Given the description of an element on the screen output the (x, y) to click on. 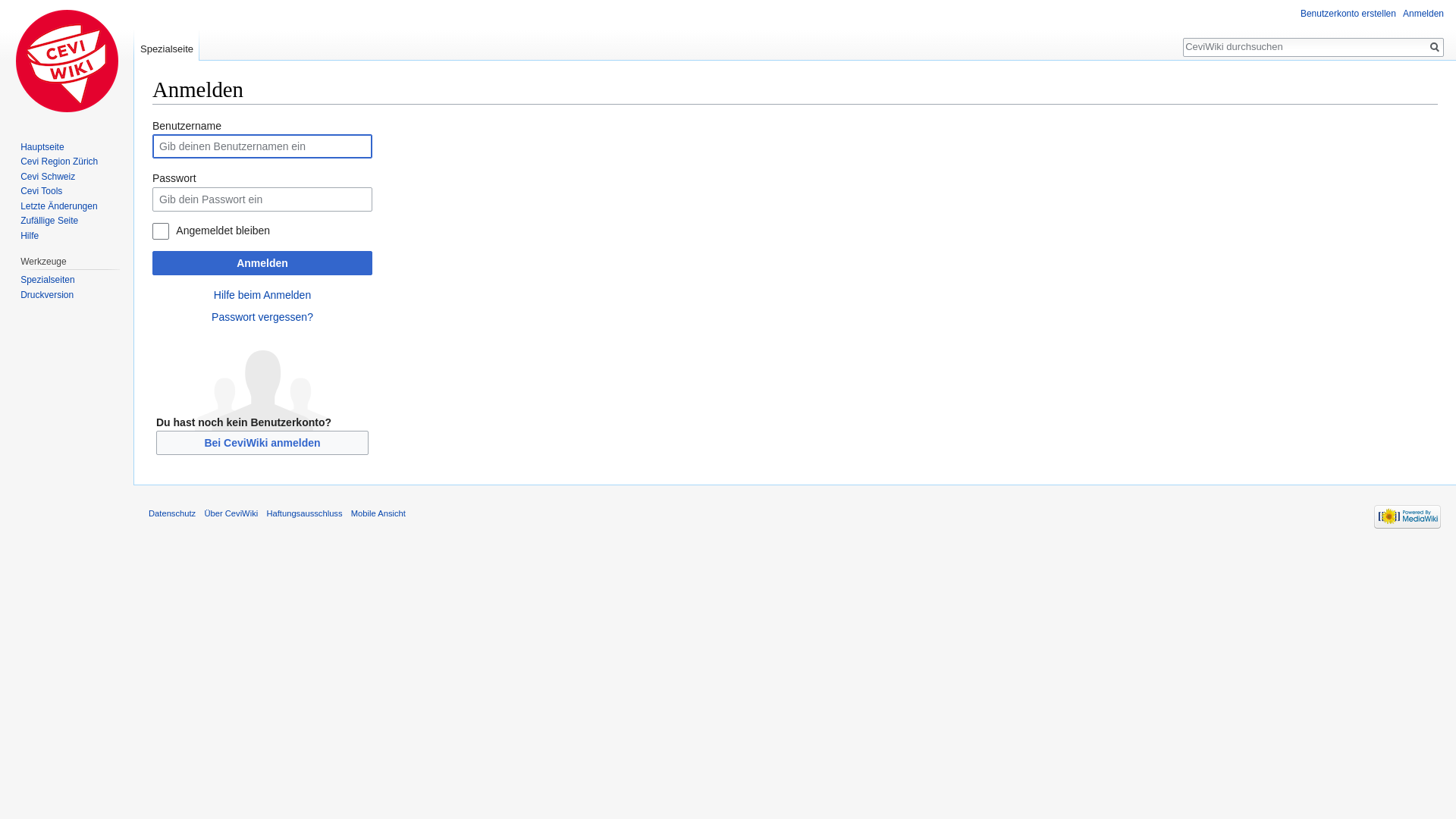
Zur Navigation springen Element type: text (151, 116)
Haftungsausschluss Element type: text (304, 512)
Anmelden Element type: text (262, 263)
CeviWiki durchsuchen [alt-shift-f] Element type: hover (1304, 45)
Anmelden Element type: text (1422, 13)
Seite Element type: text (1434, 46)
Benutzerkonto erstellen Element type: text (1348, 13)
Mobile Ansicht Element type: text (378, 512)
Hilfe beim Anmelden Element type: text (261, 294)
Hauptseite Element type: text (41, 146)
Bei CeviWiki anmelden Element type: text (262, 442)
Druckversion Element type: text (46, 294)
Passwort vergessen? Element type: text (262, 316)
Datenschutz Element type: text (171, 512)
Cevi Tools Element type: text (41, 190)
Hilfe Element type: text (29, 235)
Hauptseite Element type: hover (66, 60)
Spezialseite Element type: text (166, 45)
Cevi Schweiz Element type: text (47, 176)
Spezialseiten Element type: text (47, 279)
